Given the description of an element on the screen output the (x, y) to click on. 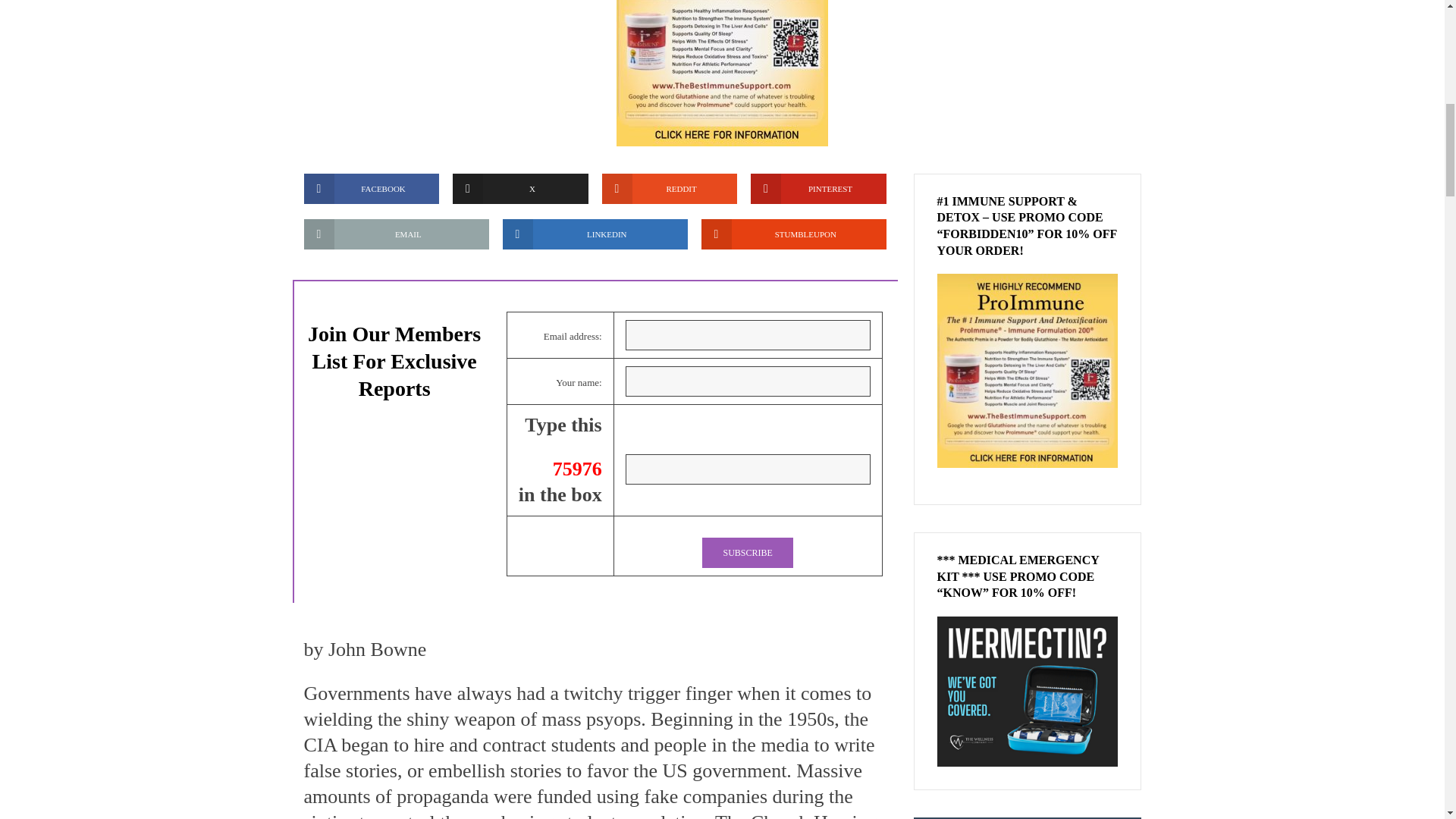
STUMBLEUPON (792, 234)
Subscribe (746, 552)
Subscribe (746, 552)
EMAIL (394, 234)
PINTEREST (818, 188)
X (520, 188)
LINKEDIN (594, 234)
REDDIT (670, 188)
FACEBOOK (370, 188)
